Given the description of an element on the screen output the (x, y) to click on. 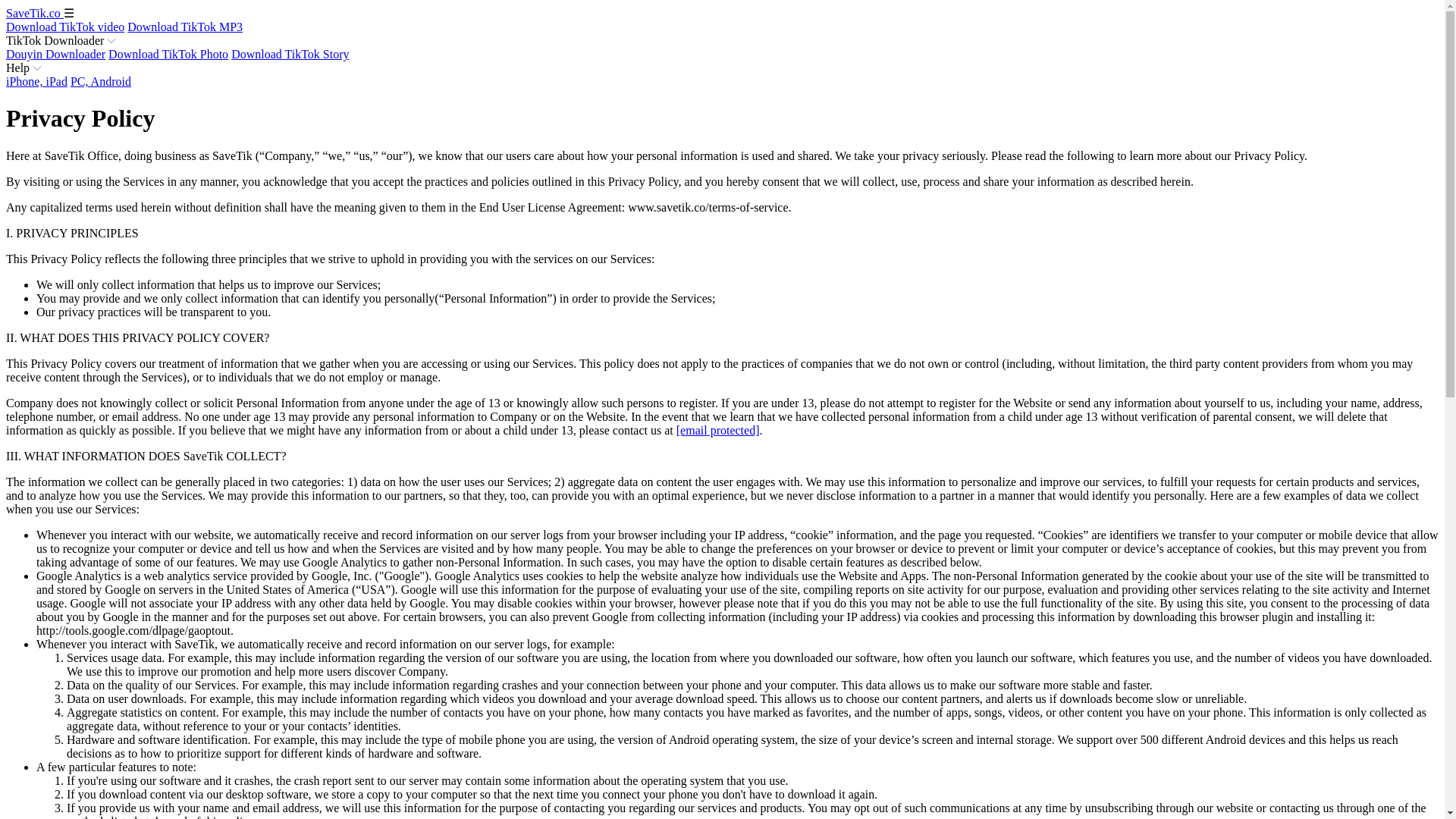
Douyin Downloader (54, 53)
Download TikTok MP3 (185, 26)
PC, Android (100, 81)
Download TikTok Story (290, 53)
SaveTik.co (34, 12)
Download TikTok Photo (167, 53)
Download TikTok video (64, 26)
iPhone, iPad (35, 81)
